Given the description of an element on the screen output the (x, y) to click on. 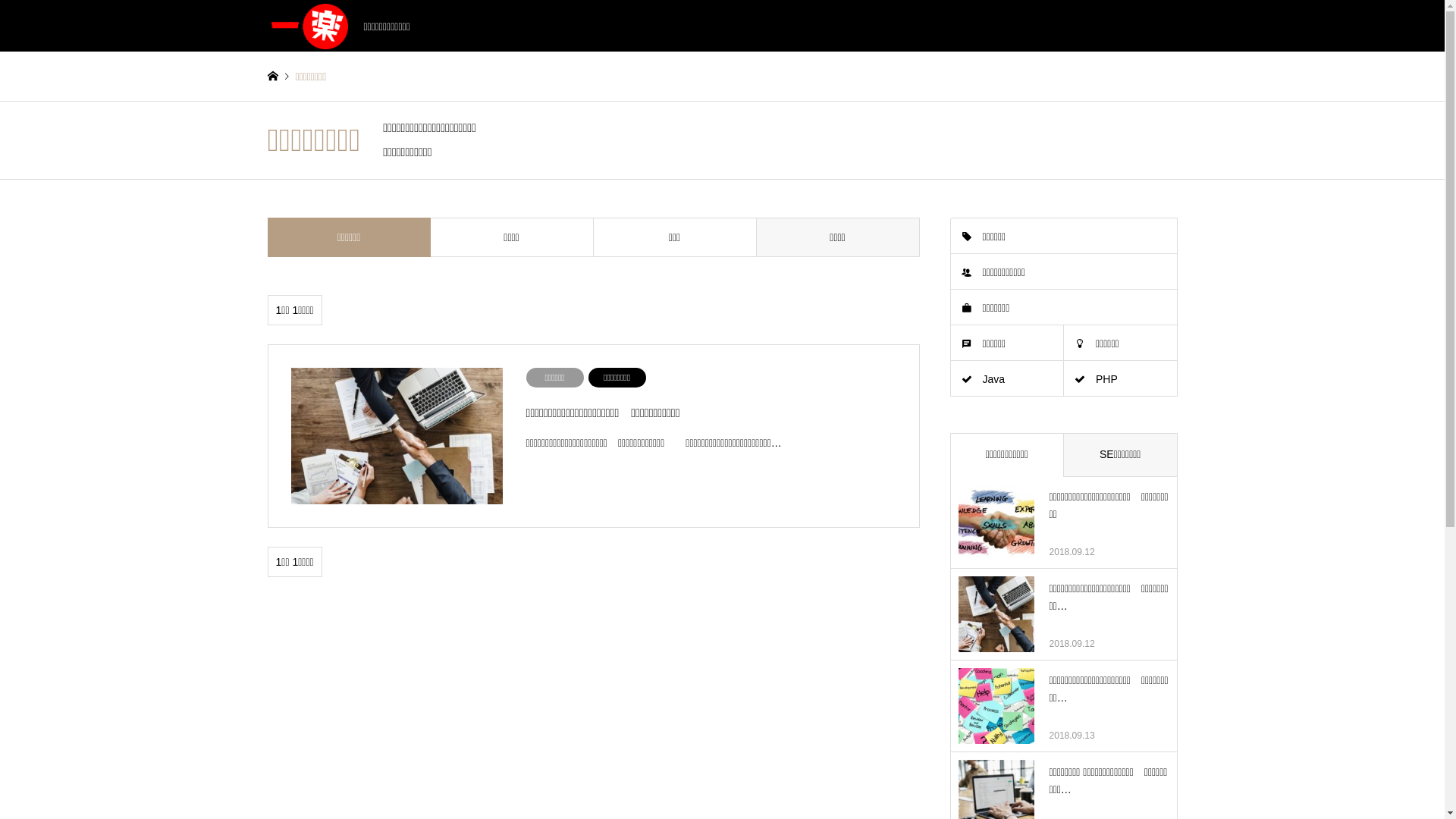
Java Element type: text (1006, 378)
PHP Element type: text (1119, 378)
